Given the description of an element on the screen output the (x, y) to click on. 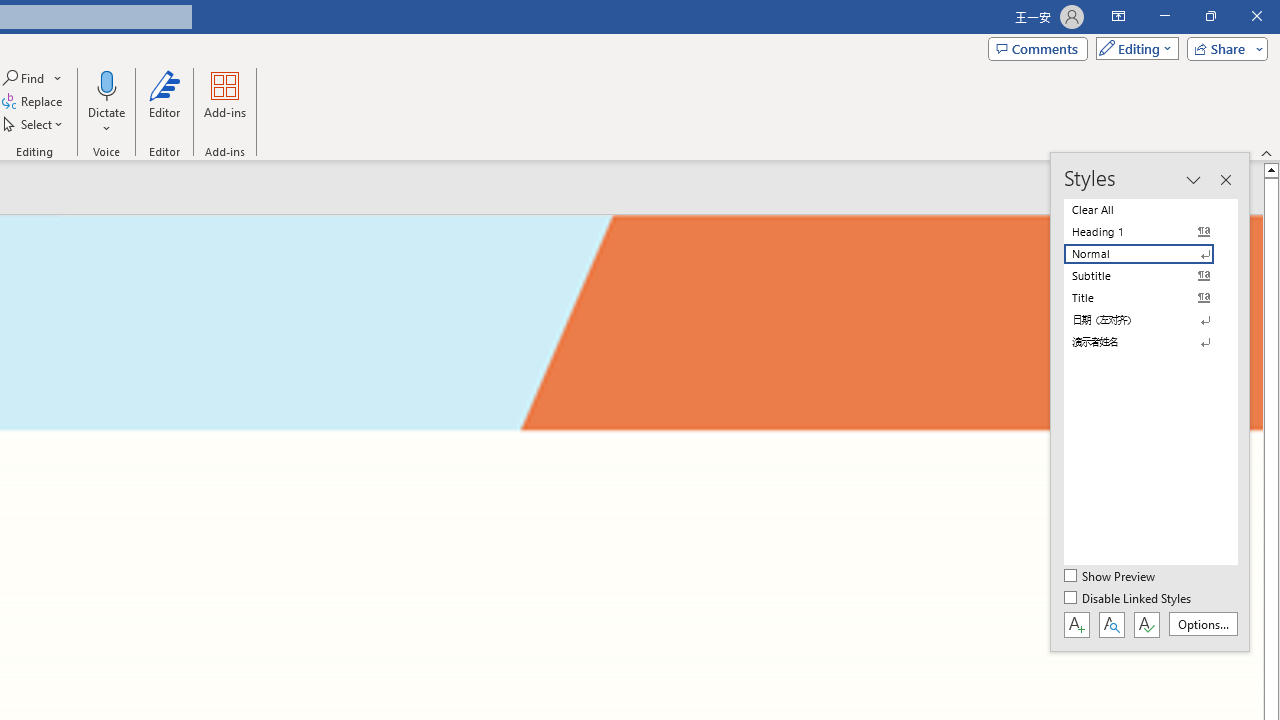
Heading 1 (1150, 232)
Disable Linked Styles (1129, 599)
Subtitle (1150, 275)
Show Preview (1110, 577)
Class: NetUIButton (1146, 624)
